Given the description of an element on the screen output the (x, y) to click on. 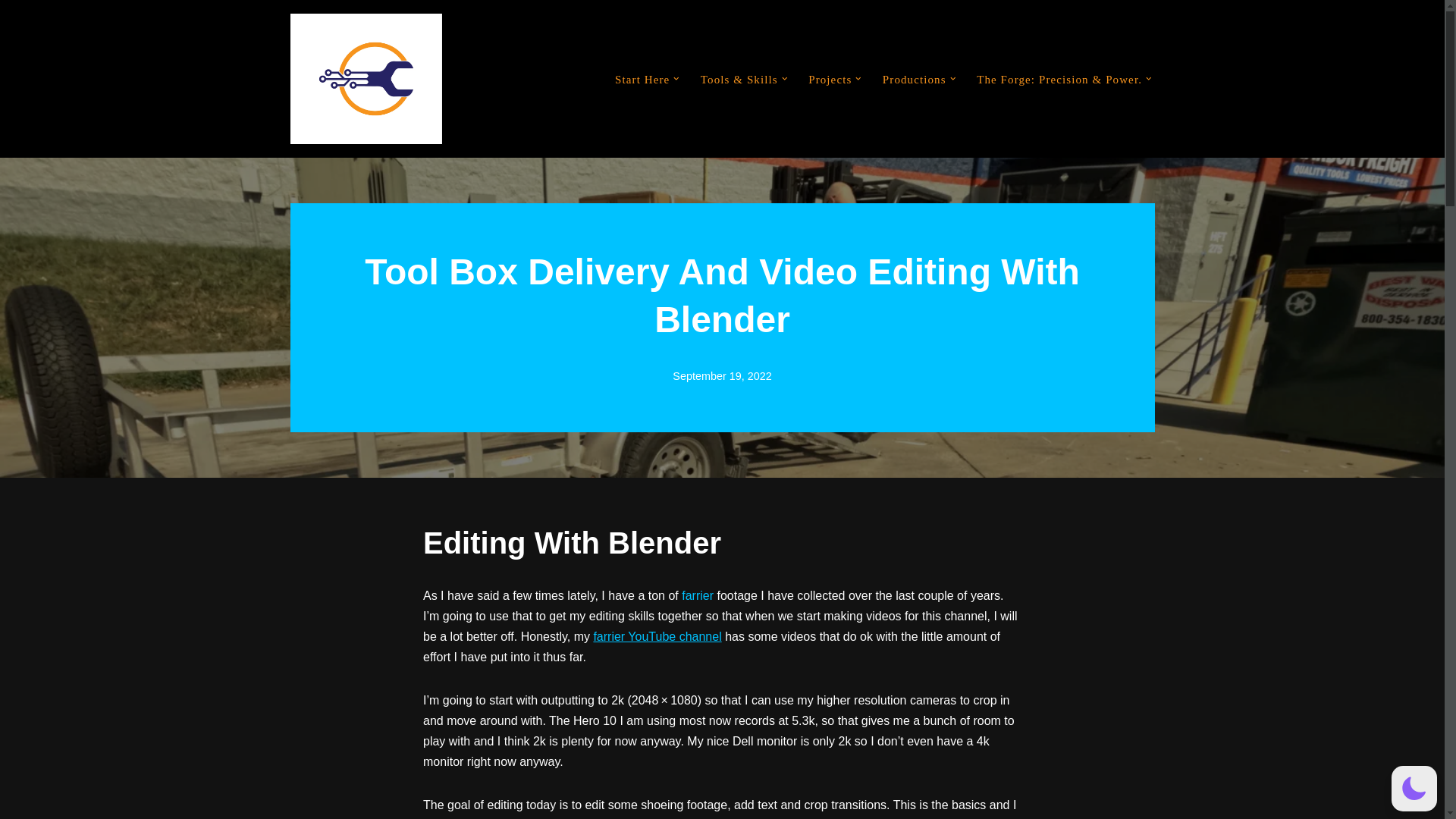
Skip to content (11, 31)
Start Here (641, 78)
Projects (829, 78)
